Given the description of an element on the screen output the (x, y) to click on. 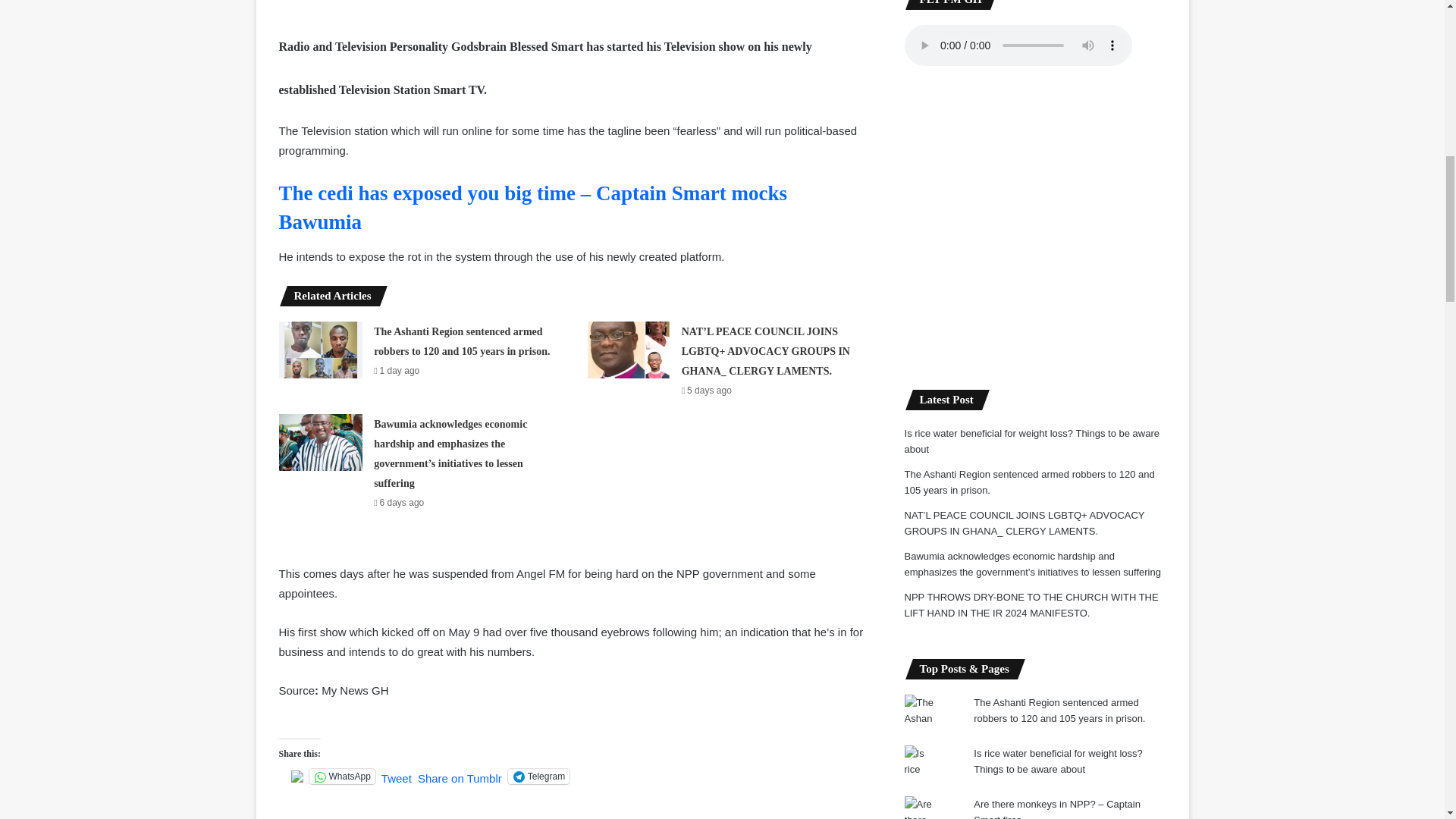
Click to share on Telegram (538, 776)
Click to share on WhatsApp (341, 776)
Share on Tumblr (459, 775)
